Given the description of an element on the screen output the (x, y) to click on. 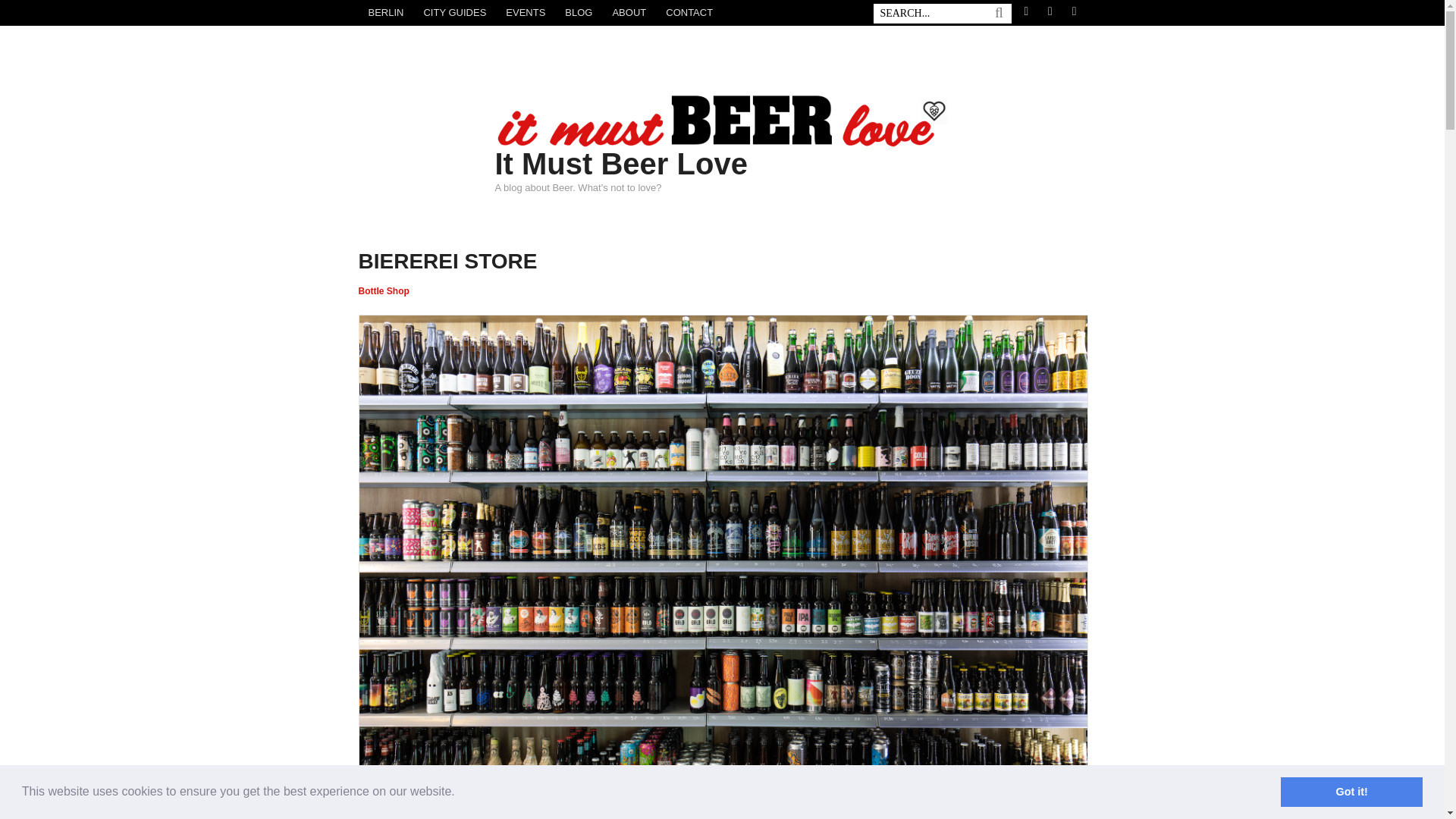
Search... (938, 13)
ABOUT (629, 12)
Twitter (1050, 12)
Got it! (1351, 791)
EVENTS (525, 12)
Facebook (1025, 12)
BERLIN (385, 12)
CITY GUIDES (454, 12)
Instagram (1074, 12)
BLOG (578, 12)
A blog about Beer. What's not to love? (722, 140)
CONTACT (689, 12)
View all items in Bottle Shop (383, 290)
It Must Beer Love (620, 163)
Bottle Shop (383, 290)
